Given the description of an element on the screen output the (x, y) to click on. 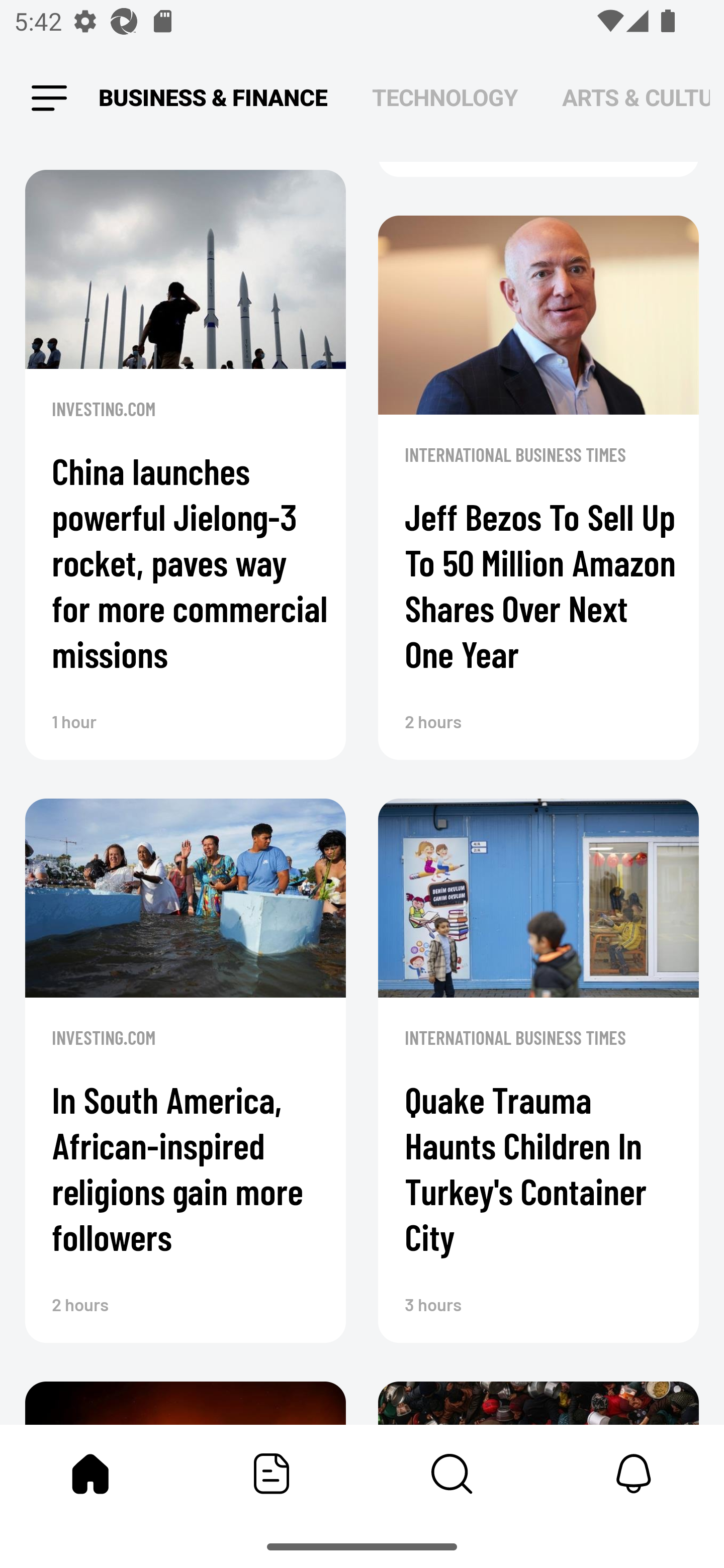
Leading Icon (49, 98)
TECHNOLOGY (444, 97)
ARTS & CULTURE (635, 97)
Featured (271, 1473)
Content Store (452, 1473)
Notifications (633, 1473)
